Given the description of an element on the screen output the (x, y) to click on. 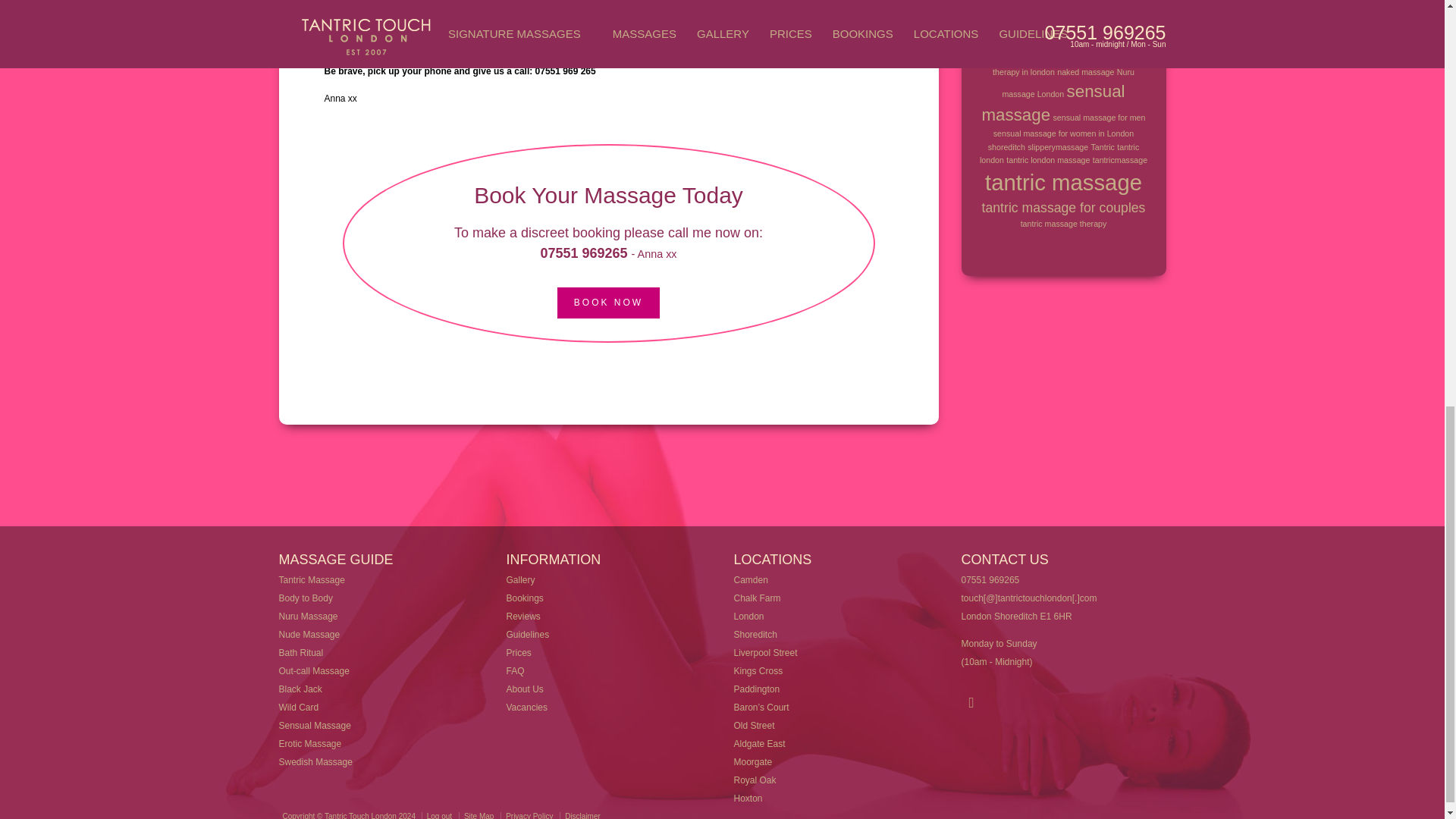
Book massage (608, 302)
BOOK NOW (608, 302)
